Given the description of an element on the screen output the (x, y) to click on. 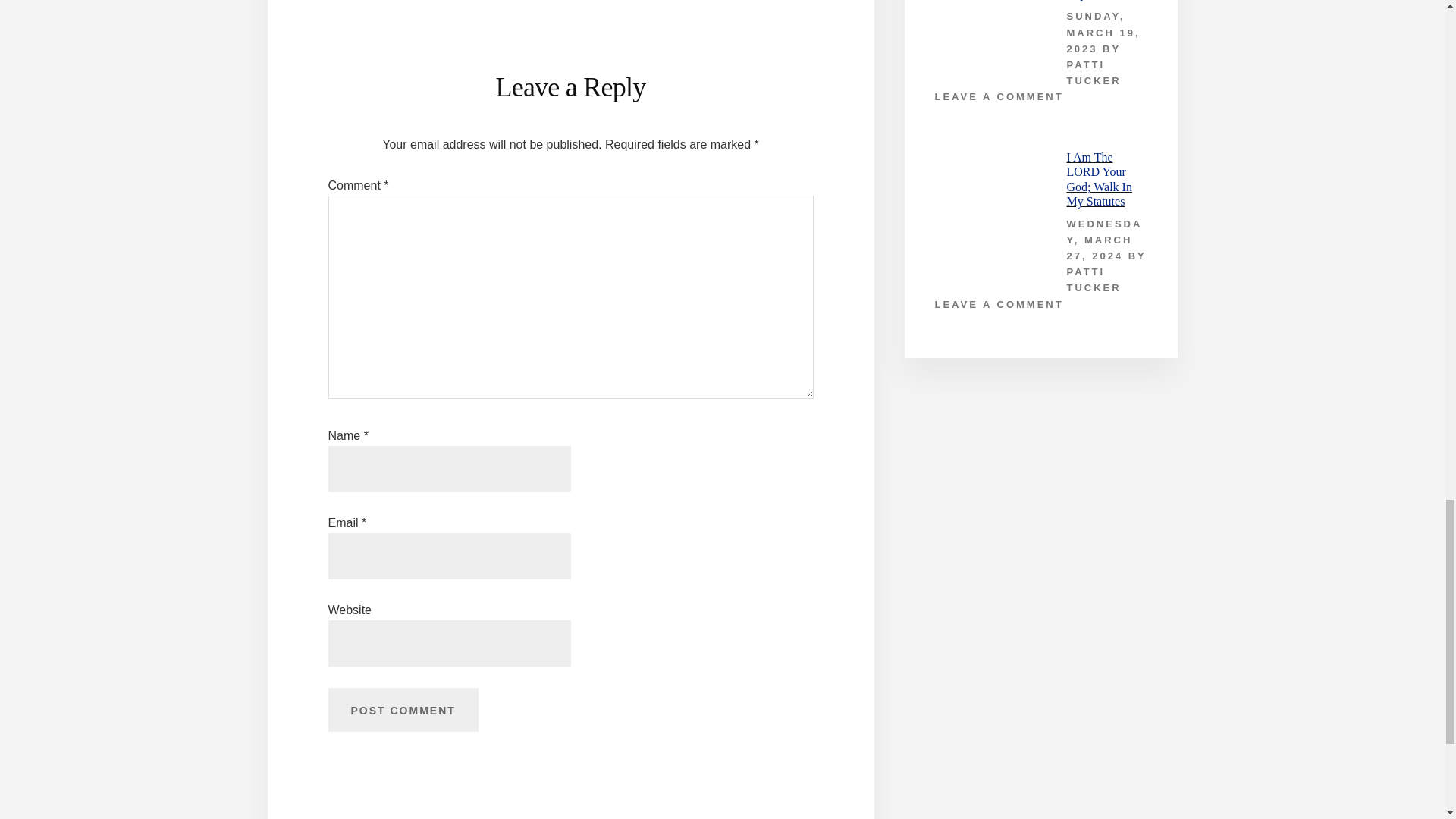
Post Comment (402, 709)
Post Comment (402, 709)
PATTI TUCKER (1093, 72)
LEAVE A COMMENT (998, 96)
PATTI TUCKER (1093, 279)
LEAVE A COMMENT (998, 304)
I Am The LORD Your God; Walk In My Statutes (1098, 179)
